Given the description of an element on the screen output the (x, y) to click on. 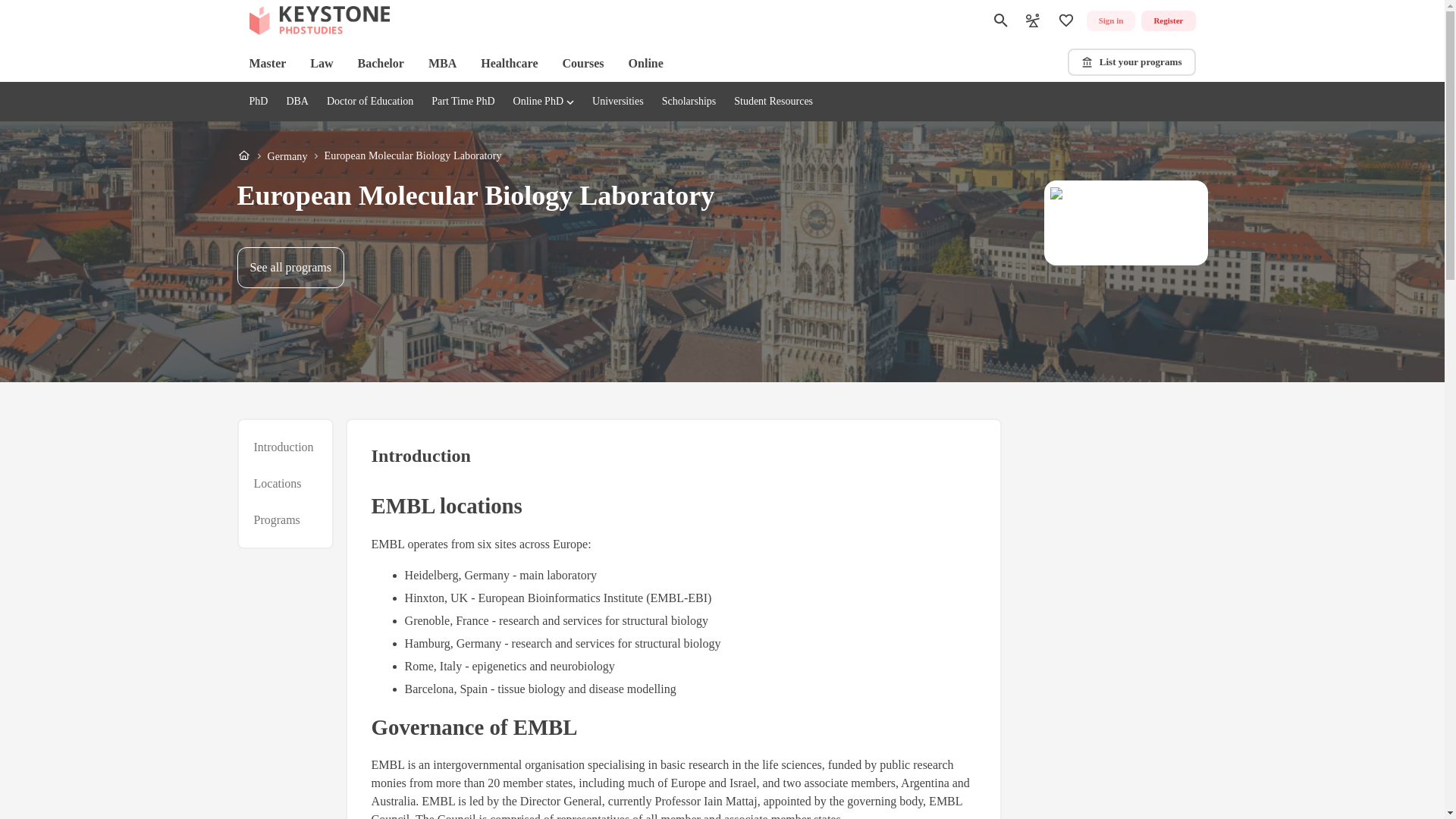
Bachelor (381, 63)
Healthcare (508, 63)
Locations (277, 484)
Doctor of Education (369, 101)
Sign in (1110, 20)
Germany (286, 156)
List your programs (1131, 62)
PhD (257, 101)
Introduction (283, 447)
Register (1168, 20)
Master (266, 63)
Student Resources (367, 156)
Courses (772, 101)
Programs (583, 63)
